Given the description of an element on the screen output the (x, y) to click on. 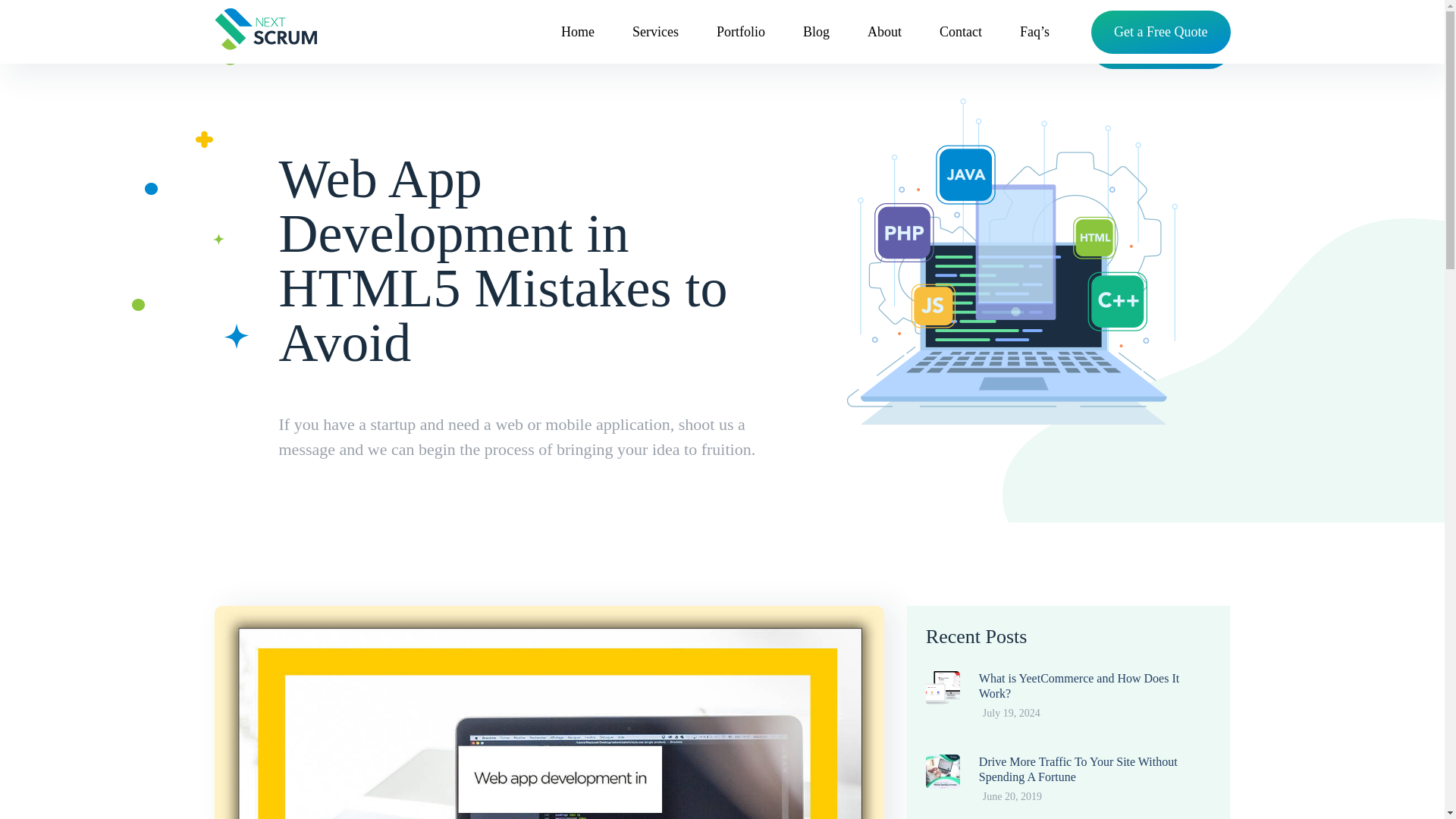
Blog (816, 46)
Portfolio (740, 31)
About (884, 46)
Home (577, 31)
Get a Free Quote (1160, 32)
Home (577, 46)
Permalink to What is YeetCommerce and How Does It Work? (1078, 685)
Contact (960, 46)
Contact (960, 31)
About (884, 31)
